Given the description of an element on the screen output the (x, y) to click on. 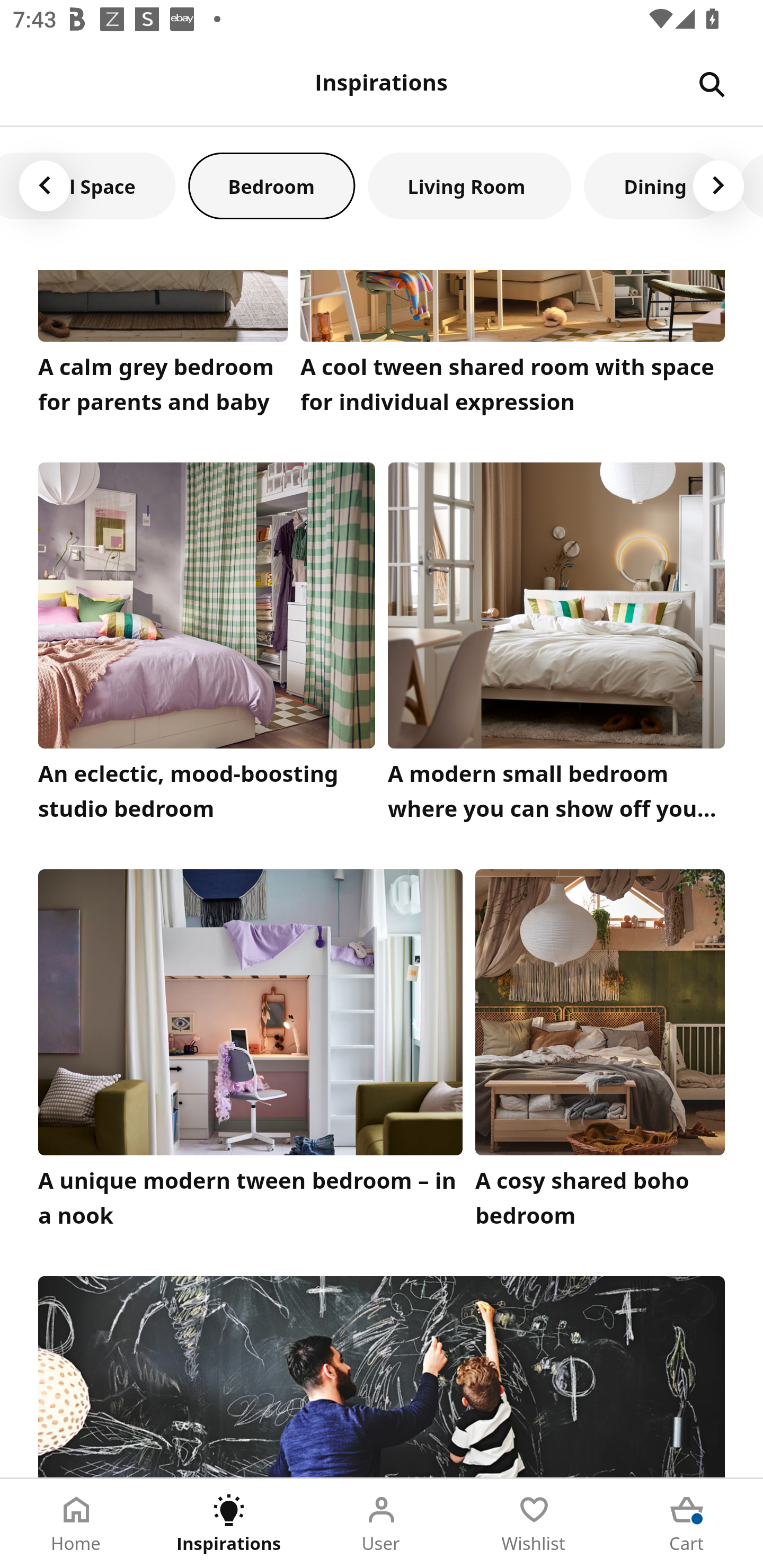
Bedroom (271, 185)
Living Room  (469, 185)
An eclectic, mood-boosting studio bedroom (206, 646)
A unique modern tween bedroom – in a nook (250, 1053)
A cosy shared boho bedroom (599, 1053)
Home
Tab 1 of 5 (76, 1522)
Inspirations
Tab 2 of 5 (228, 1522)
User
Tab 3 of 5 (381, 1522)
Wishlist
Tab 4 of 5 (533, 1522)
Cart
Tab 5 of 5 (686, 1522)
